Given the description of an element on the screen output the (x, y) to click on. 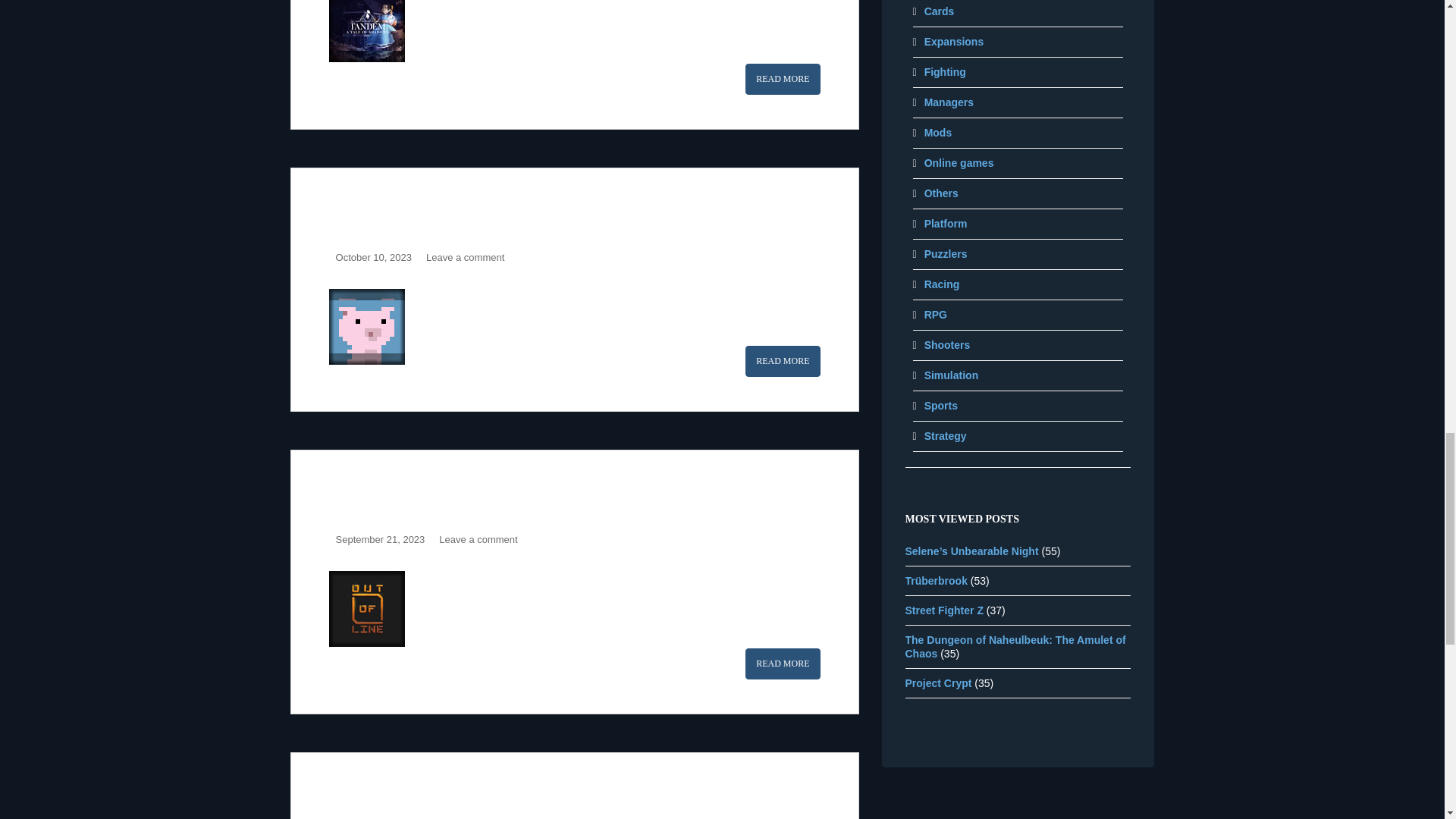
October 10, 2023 (374, 256)
READ MORE (782, 79)
READ MORE (782, 360)
Mumps (363, 213)
Out of Line (381, 495)
Leave a comment (464, 256)
September 21, 2023 (380, 539)
Tandem: a Tale of Shadows (782, 79)
